Given the description of an element on the screen output the (x, y) to click on. 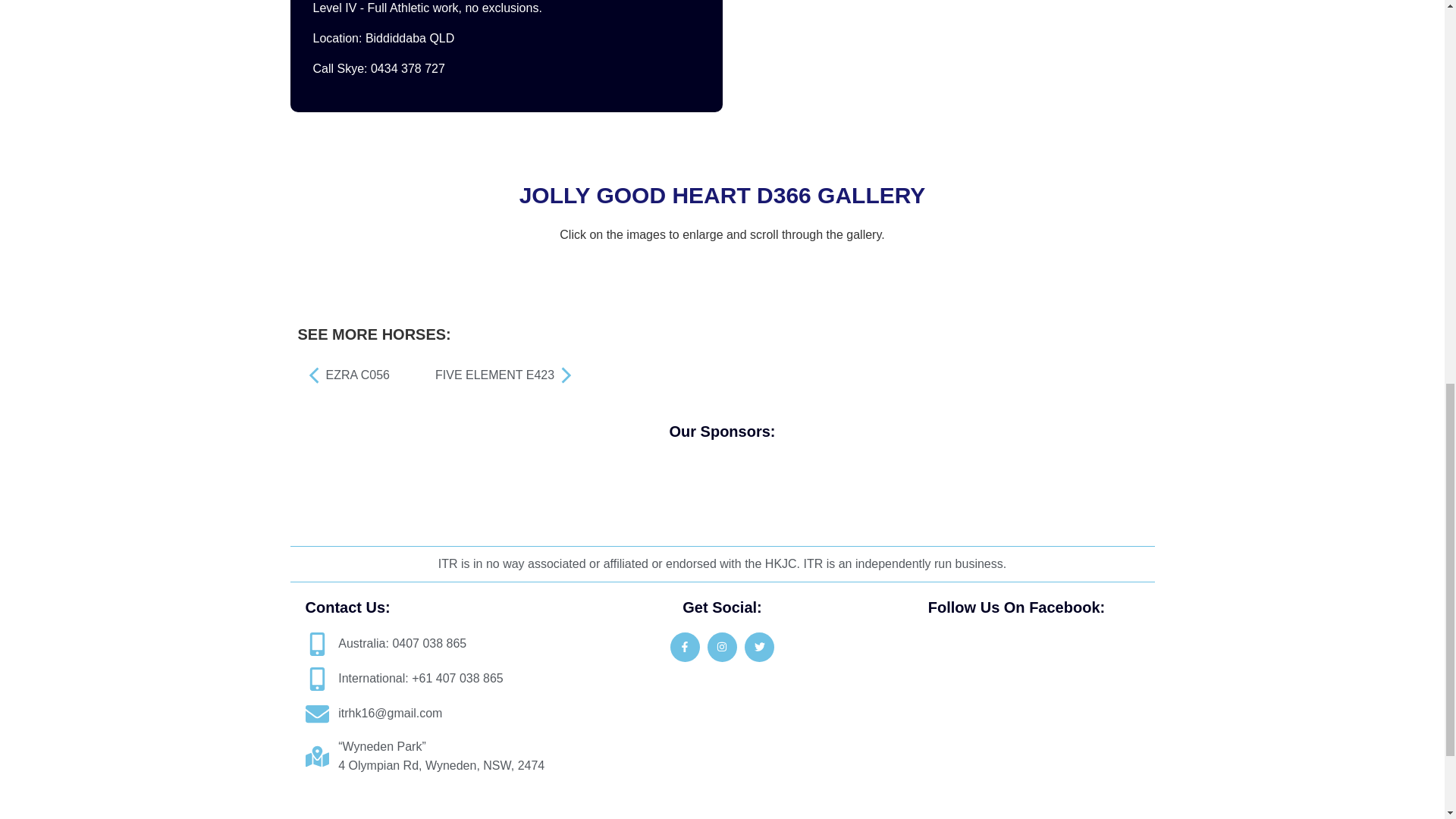
Australia: 0407 038 865 (438, 644)
EZRA C056 (361, 375)
FIVE ELEMENT E423 (506, 375)
